Given the description of an element on the screen output the (x, y) to click on. 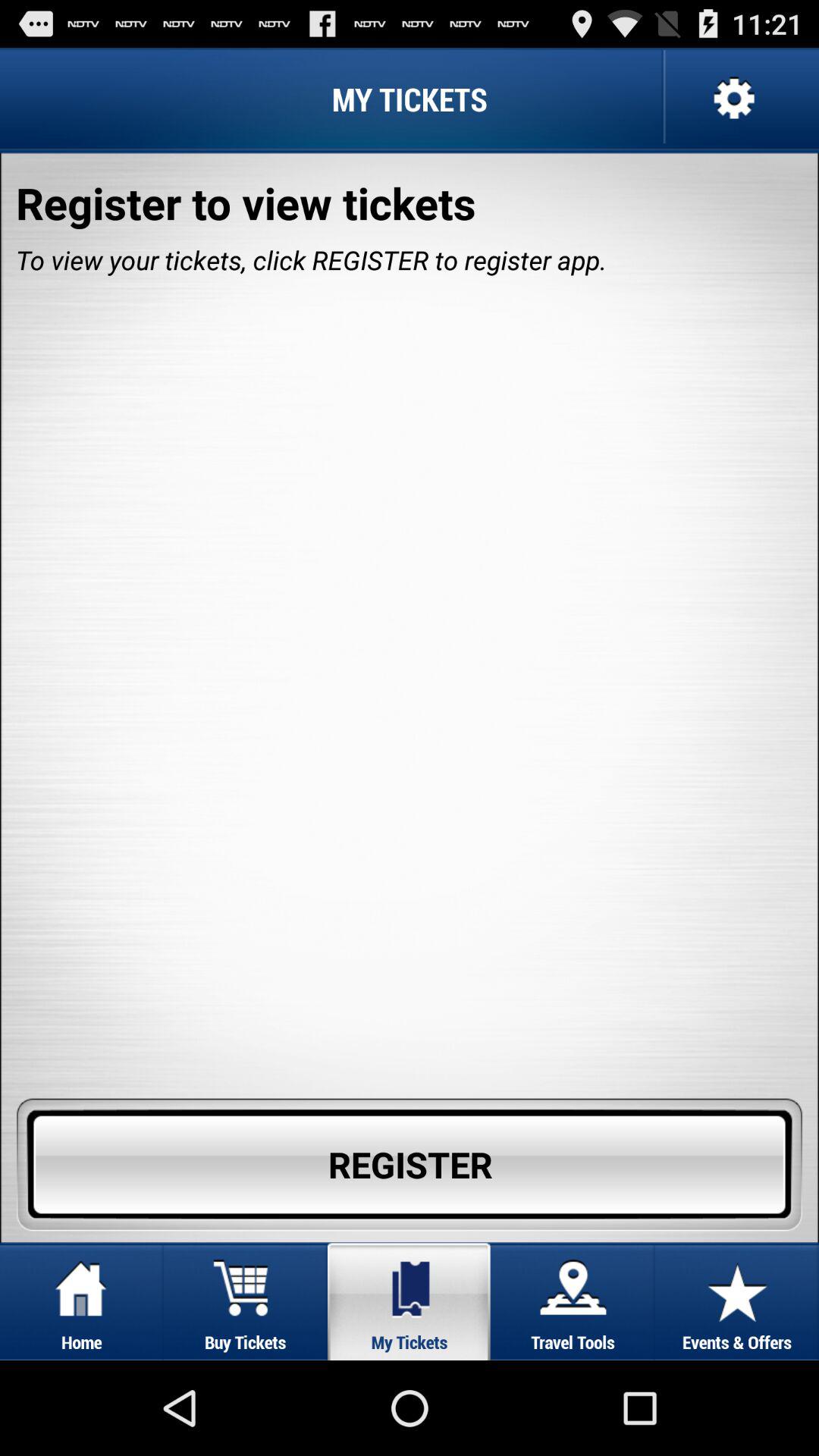
turn off item above register to view item (732, 99)
